Given the description of an element on the screen output the (x, y) to click on. 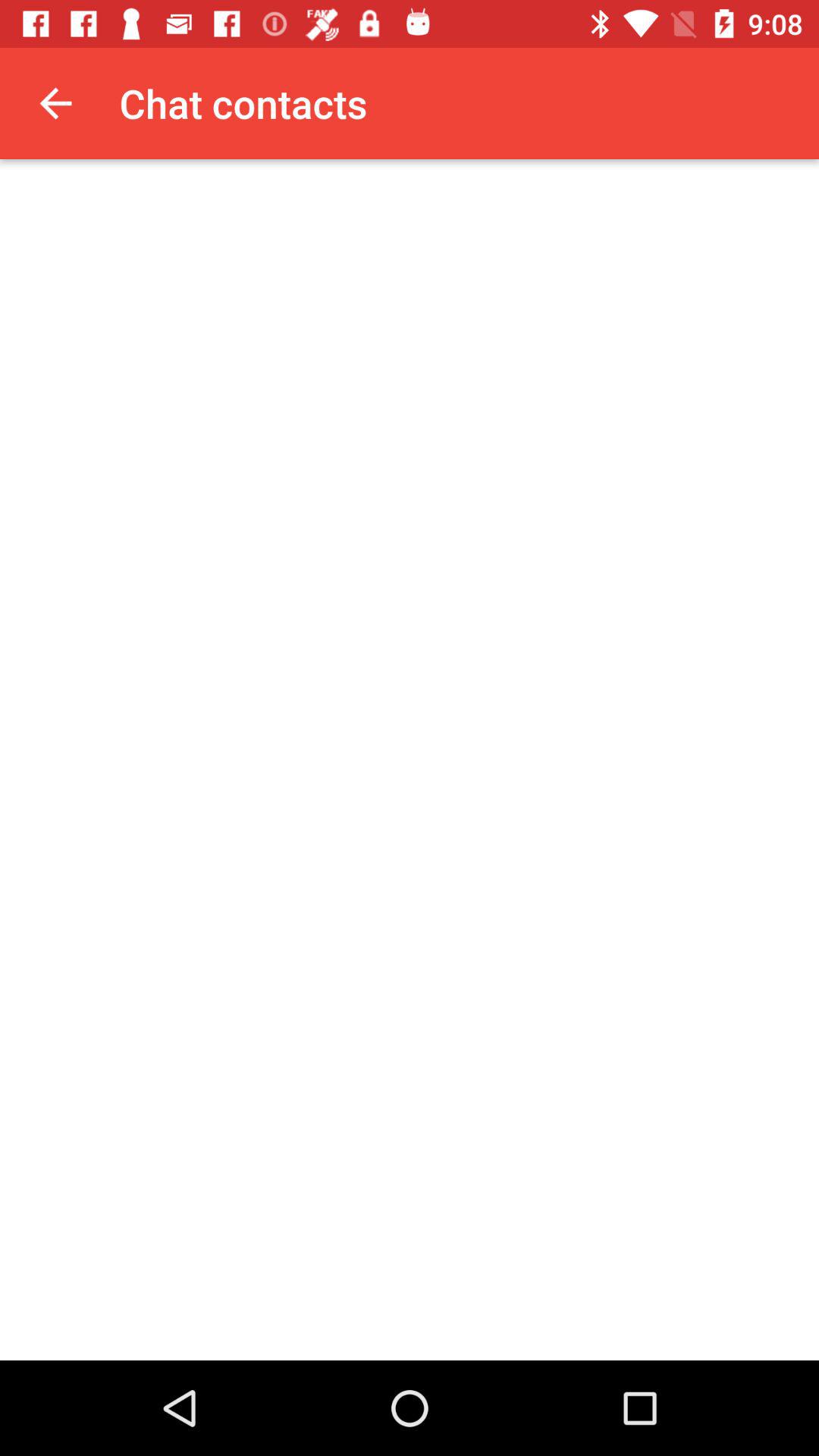
turn off the icon next to chat contacts (55, 103)
